Given the description of an element on the screen output the (x, y) to click on. 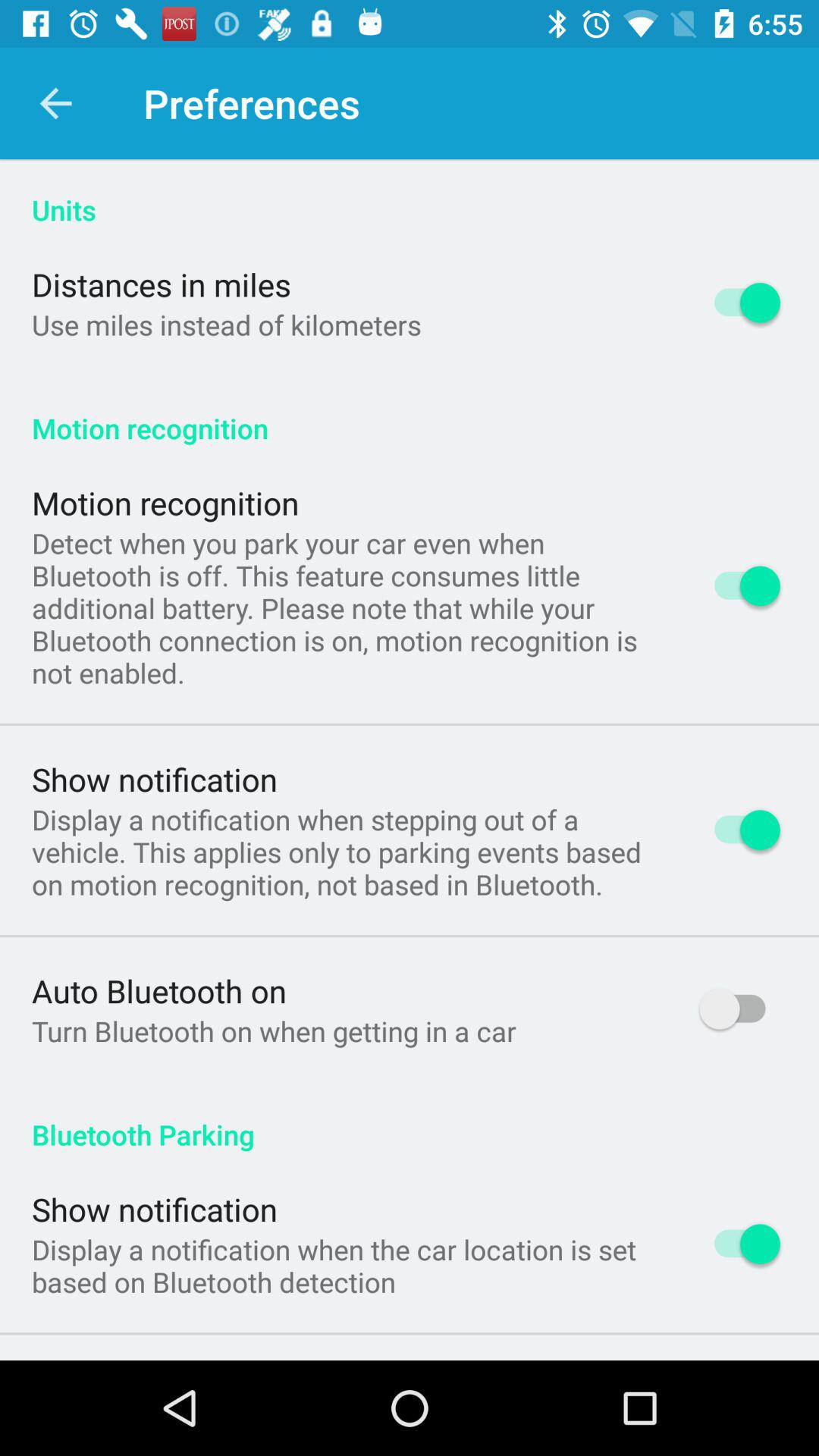
select the detect when you icon (345, 607)
